Given the description of an element on the screen output the (x, y) to click on. 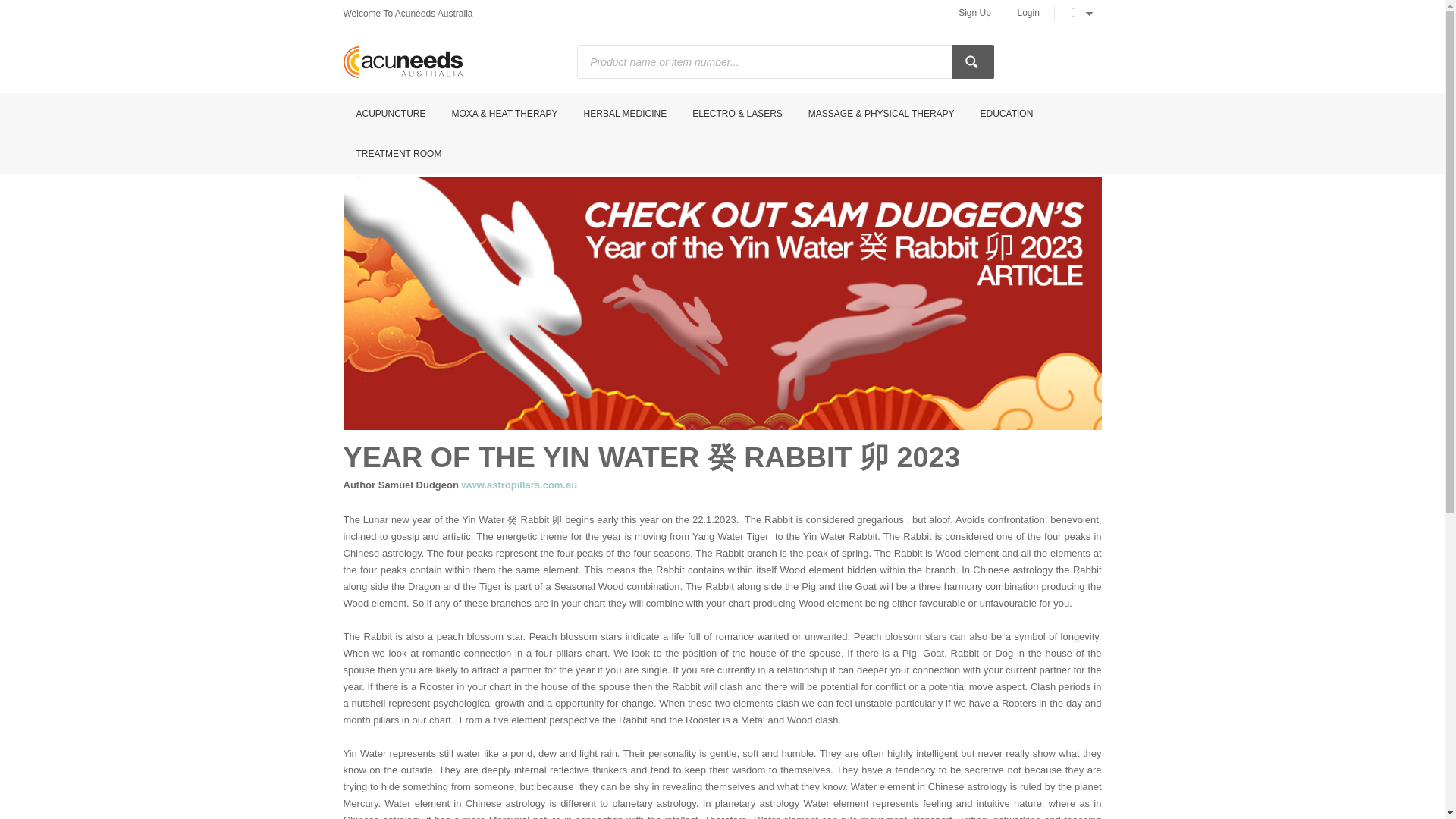
Login (1028, 12)
Search products (973, 61)
ACUPUNCTURE (390, 113)
Sign Up (975, 12)
